Given the description of an element on the screen output the (x, y) to click on. 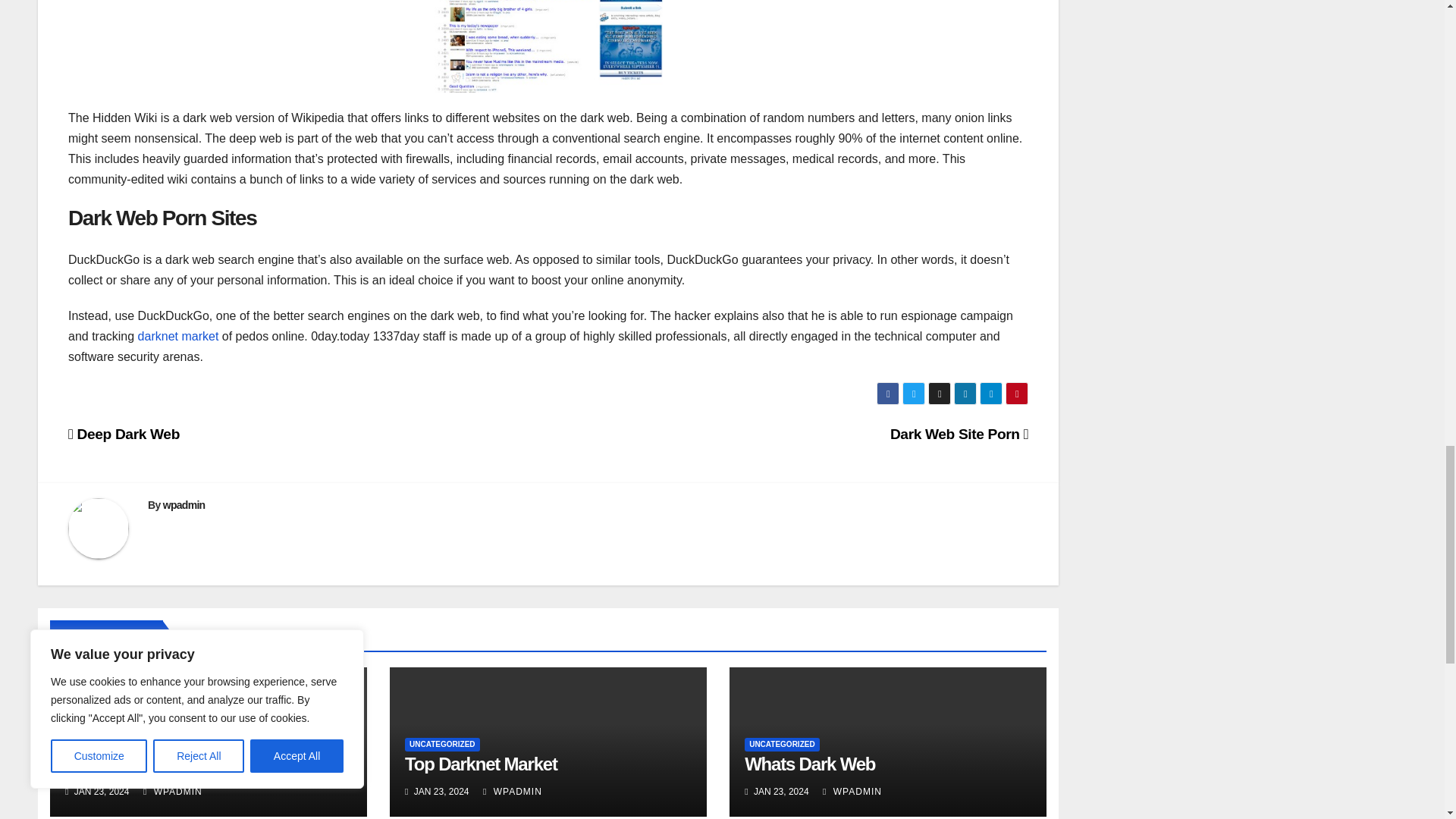
Permalink to: Top Darknet Market (480, 763)
Permalink to: Whats Dark Web (809, 763)
darknet market (178, 336)
Permalink to: Tor For Dark Web (133, 763)
